Given the description of an element on the screen output the (x, y) to click on. 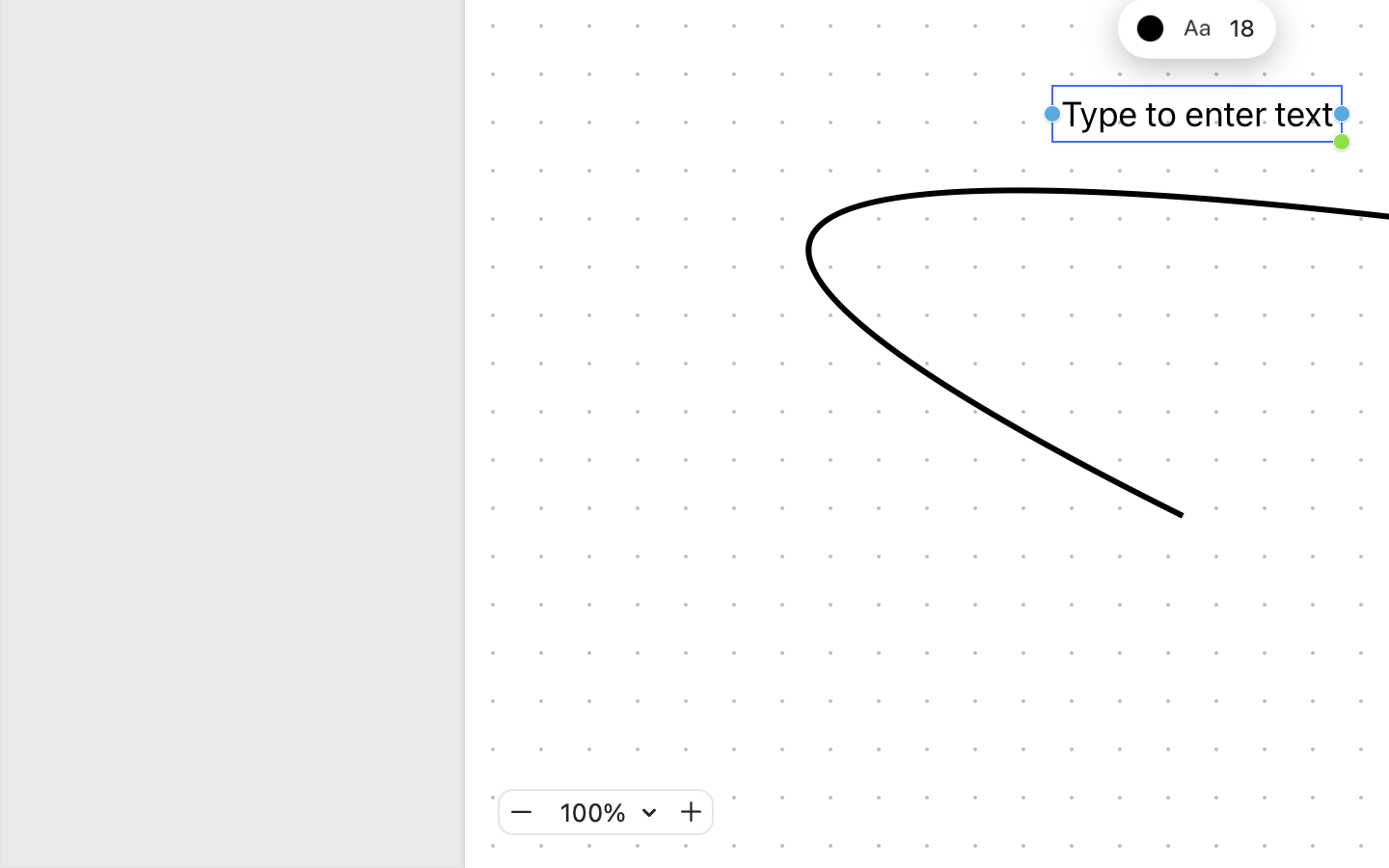
black Element type: AXButton (1149, 26)
Ornaments Element type: AXStaticText (1273, 50)
